Given the description of an element on the screen output the (x, y) to click on. 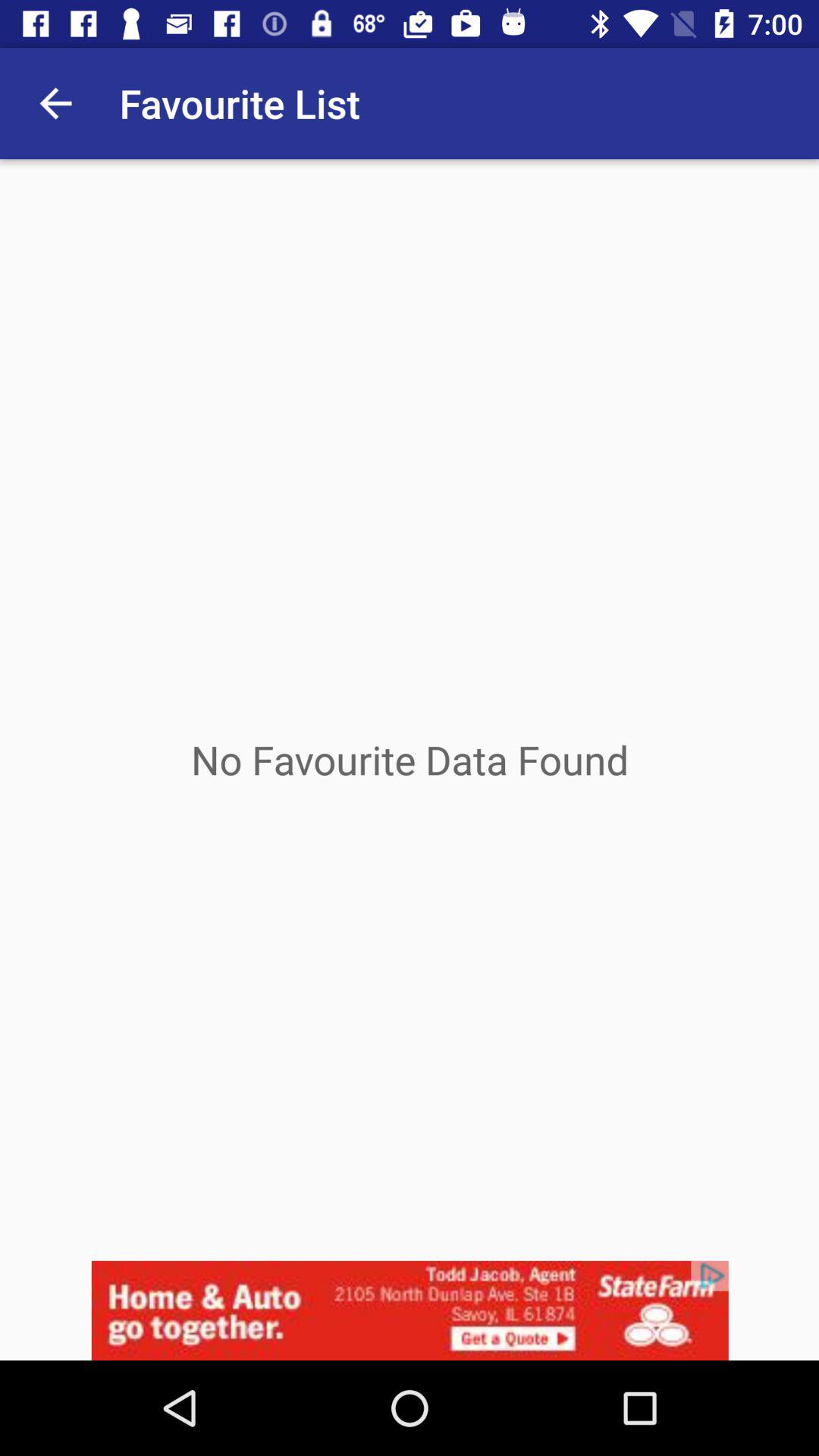
open advertisement (409, 1310)
